Given the description of an element on the screen output the (x, y) to click on. 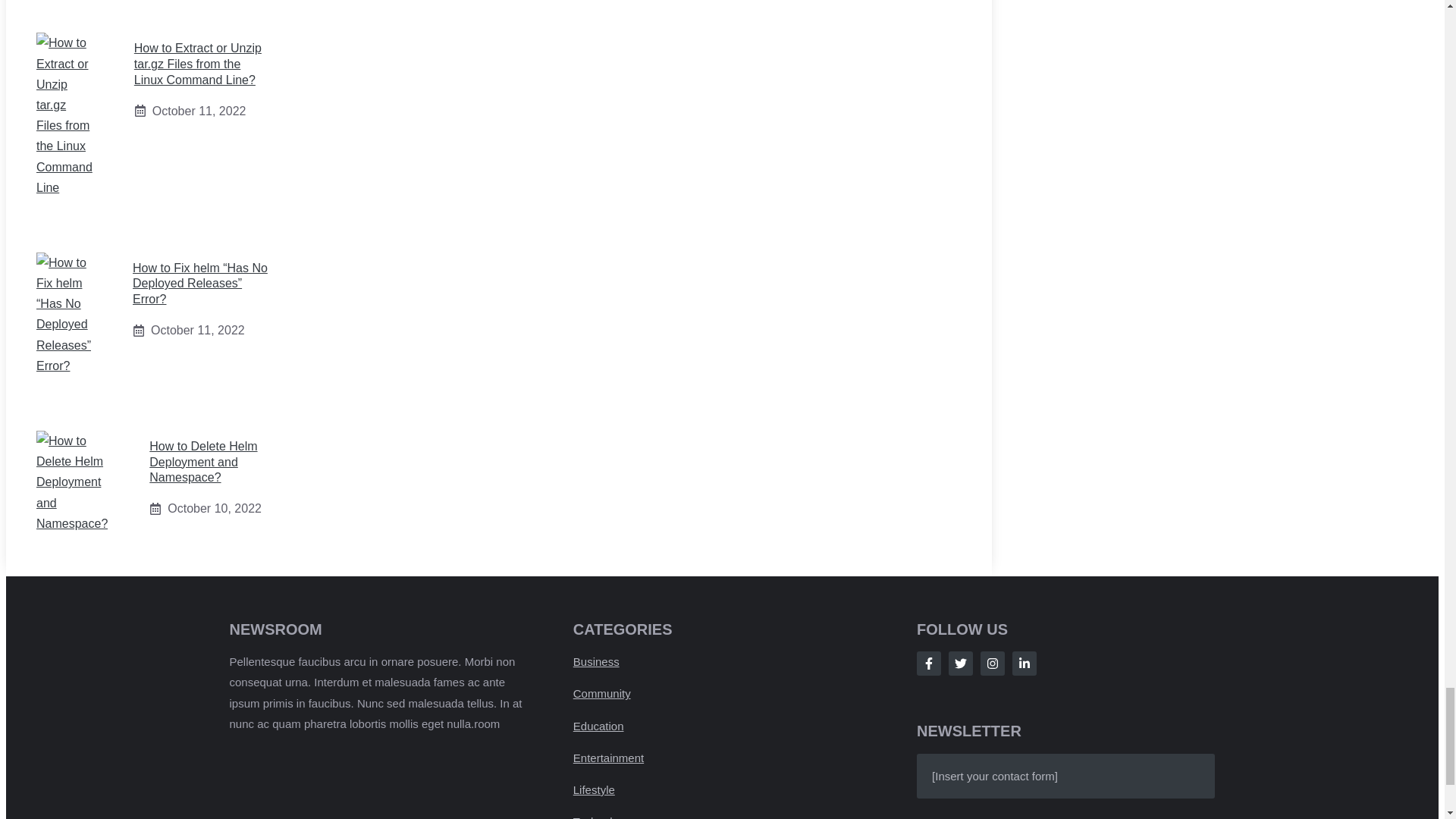
Technology (601, 816)
How to Delete Helm Deployment and Namespace? (203, 461)
Lifestyle (593, 789)
Community (601, 693)
Entertainment (608, 757)
Education (598, 725)
Business (596, 661)
